Given the description of an element on the screen output the (x, y) to click on. 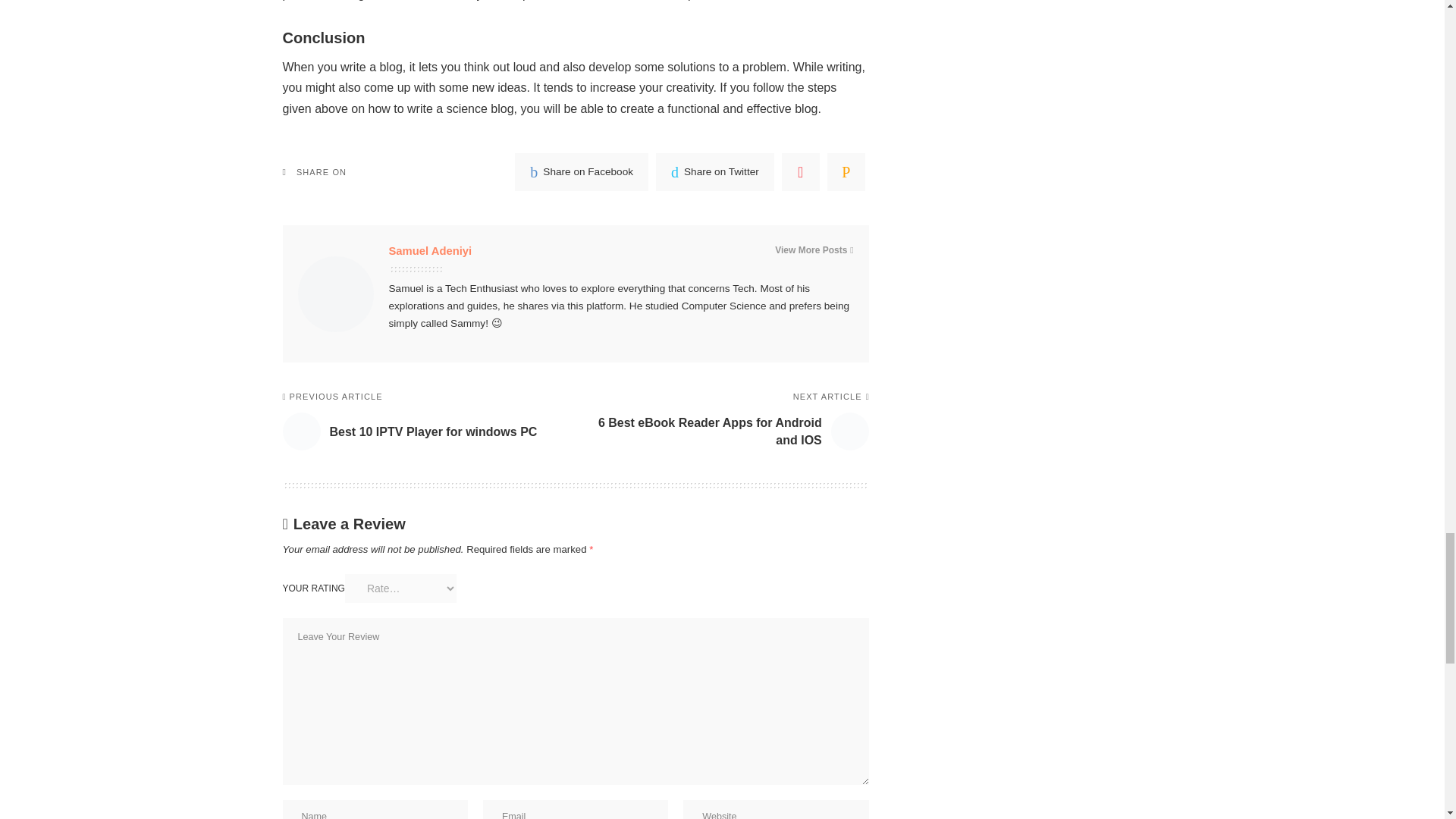
Facebook (581, 171)
Twitter (715, 171)
Pinterest (800, 171)
Email (845, 171)
